Given the description of an element on the screen output the (x, y) to click on. 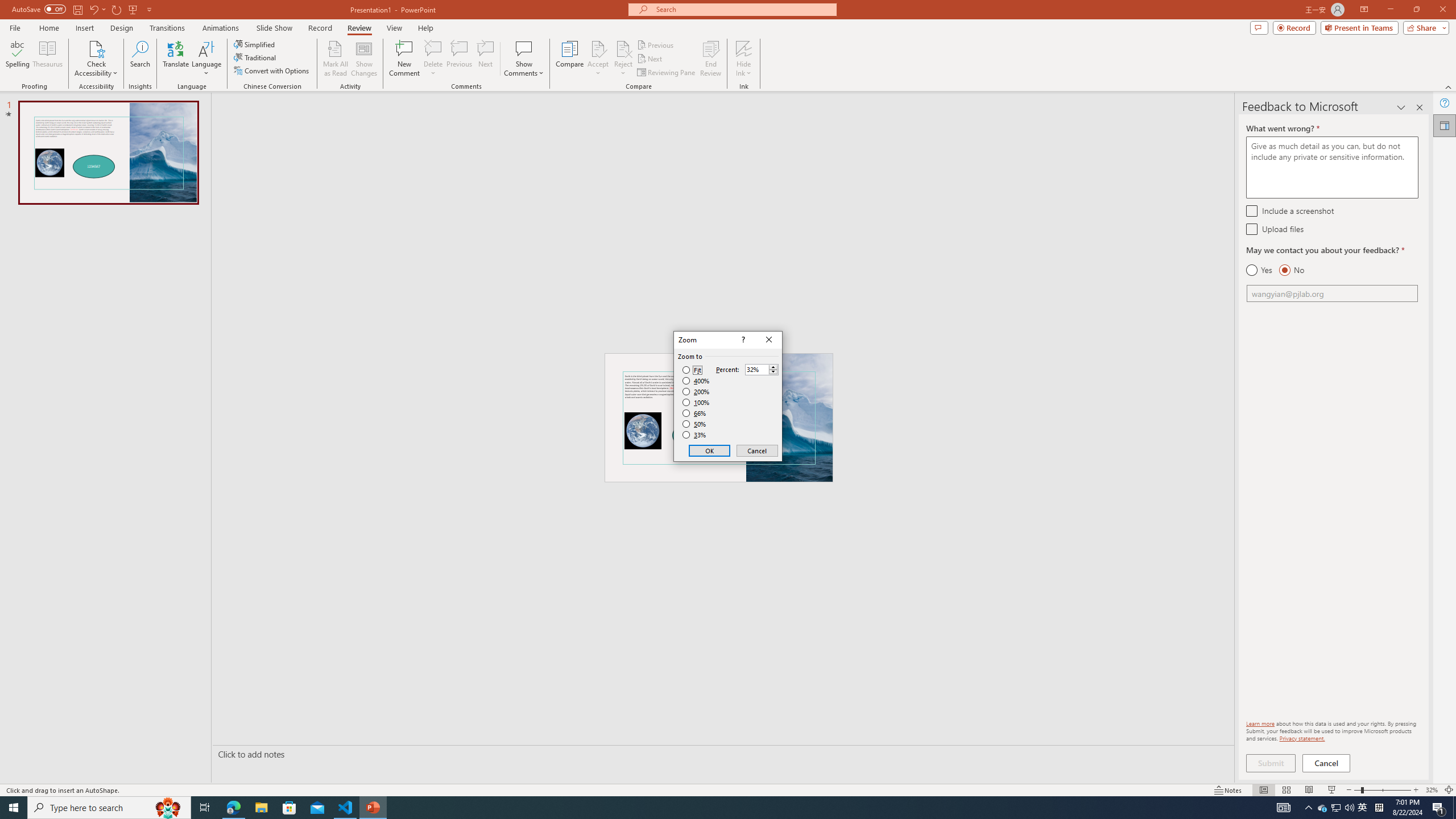
Check Accessibility (95, 58)
Context help (742, 339)
What went wrong? * (1332, 167)
Feedback to Microsoft (1322, 807)
Thesaurus... (1444, 125)
Microsoft Edge - 1 running window (47, 58)
